Given the description of an element on the screen output the (x, y) to click on. 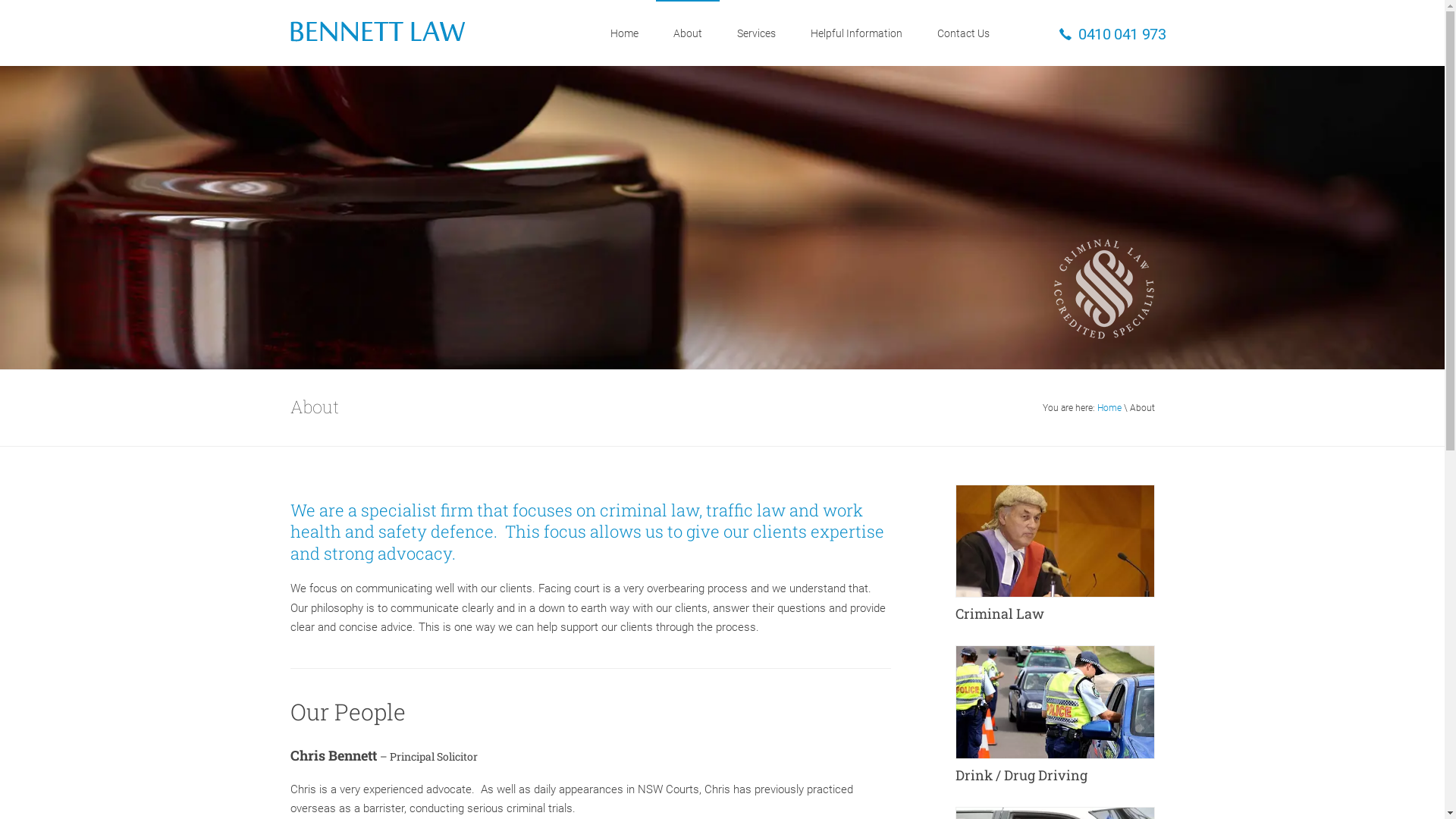
Drink / Drug Driving Element type: text (1054, 722)
Home Element type: text (1108, 407)
0410 041 973 Element type: text (1112, 34)
Helpful Information Element type: text (856, 32)
Services Element type: text (755, 32)
Criminal Law Element type: text (1054, 560)
About Element type: text (686, 32)
Home Element type: text (624, 32)
Contact Us Element type: text (962, 32)
